Given the description of an element on the screen output the (x, y) to click on. 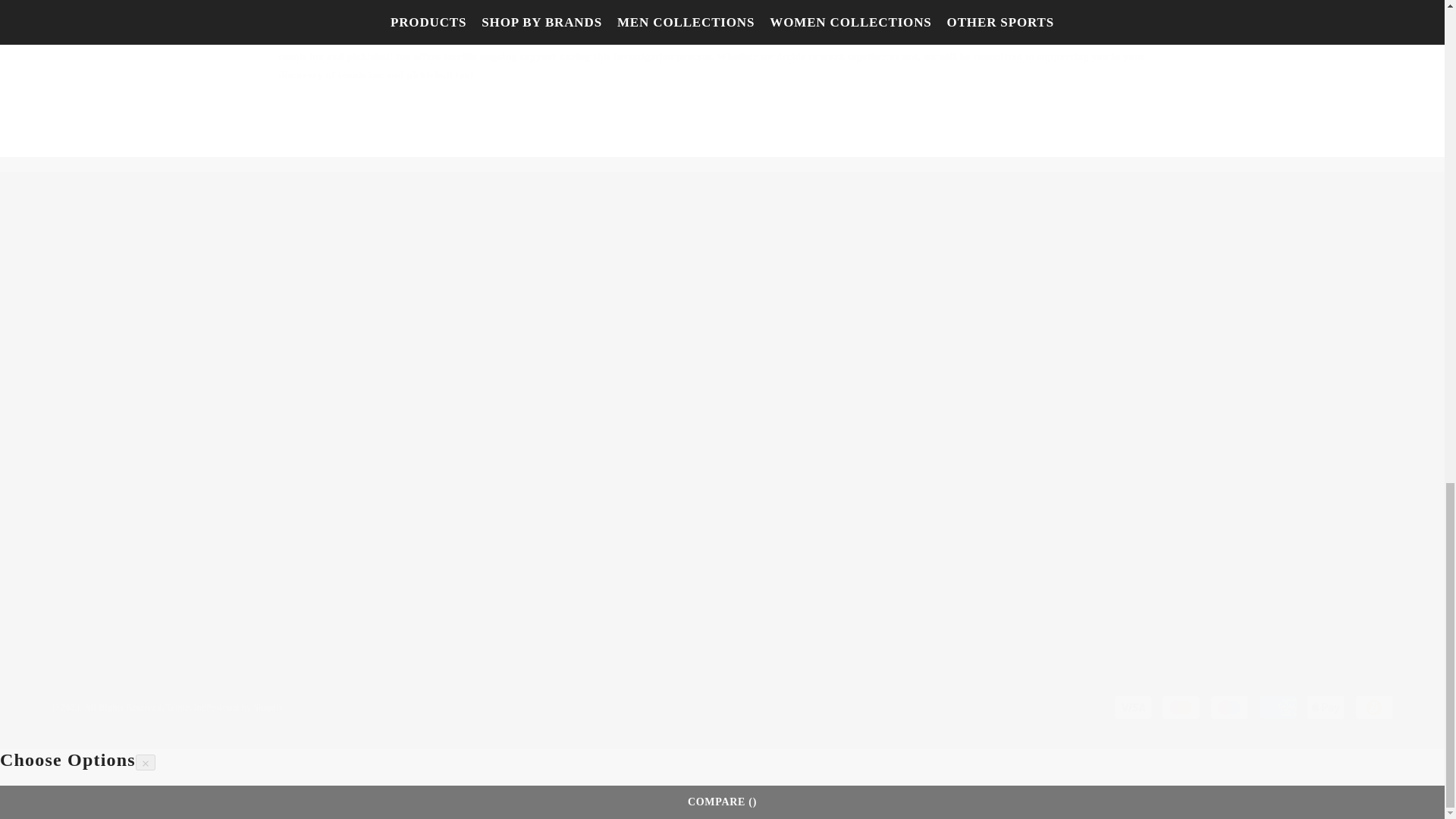
Apple Pay (1325, 707)
Mastercard (1180, 707)
Visa (1229, 707)
Bitcoin (1132, 707)
American Express (1374, 707)
